Given the description of an element on the screen output the (x, y) to click on. 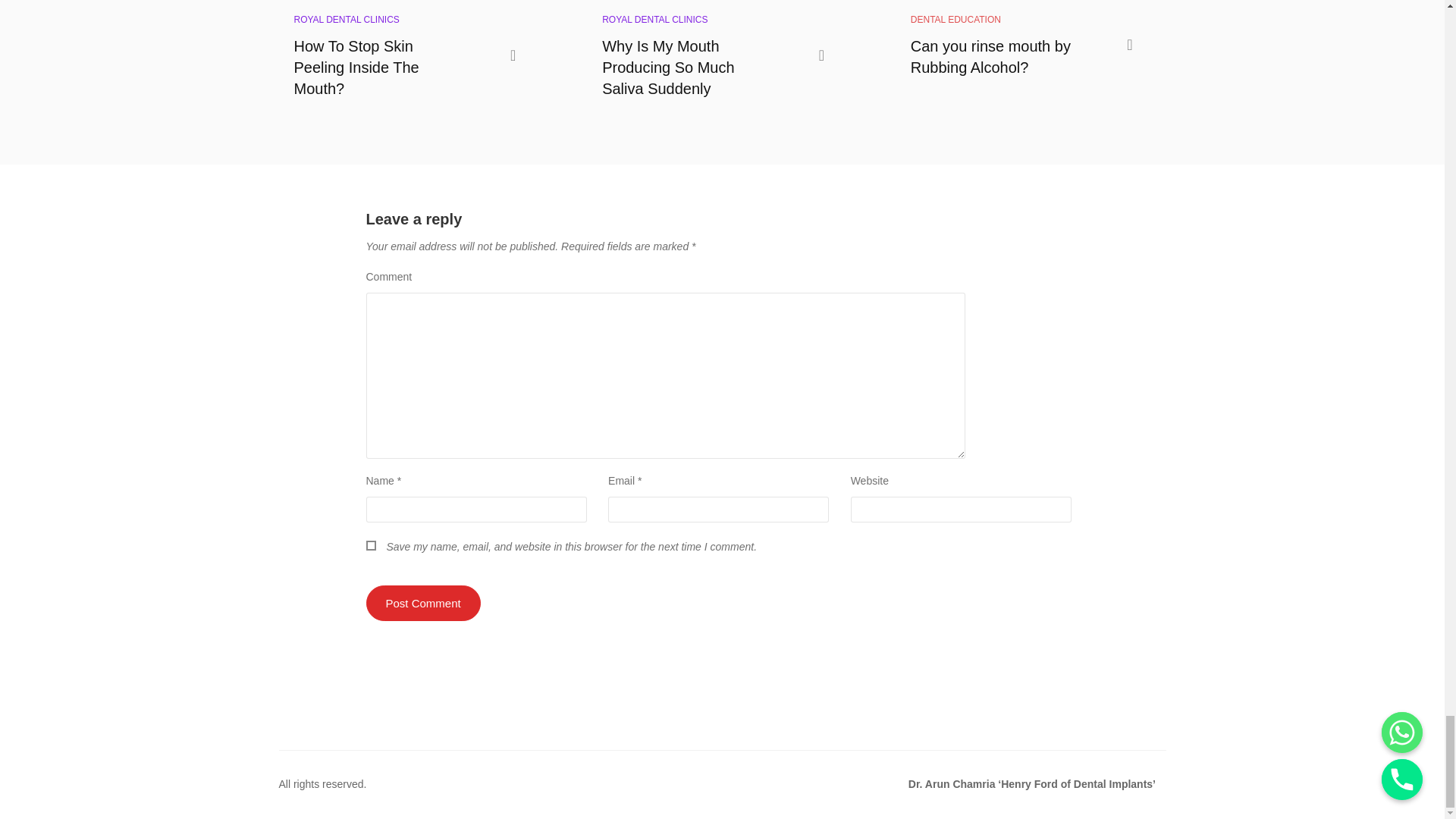
Post Comment (422, 602)
yes (370, 545)
Our Mentor (1032, 784)
